Given the description of an element on the screen output the (x, y) to click on. 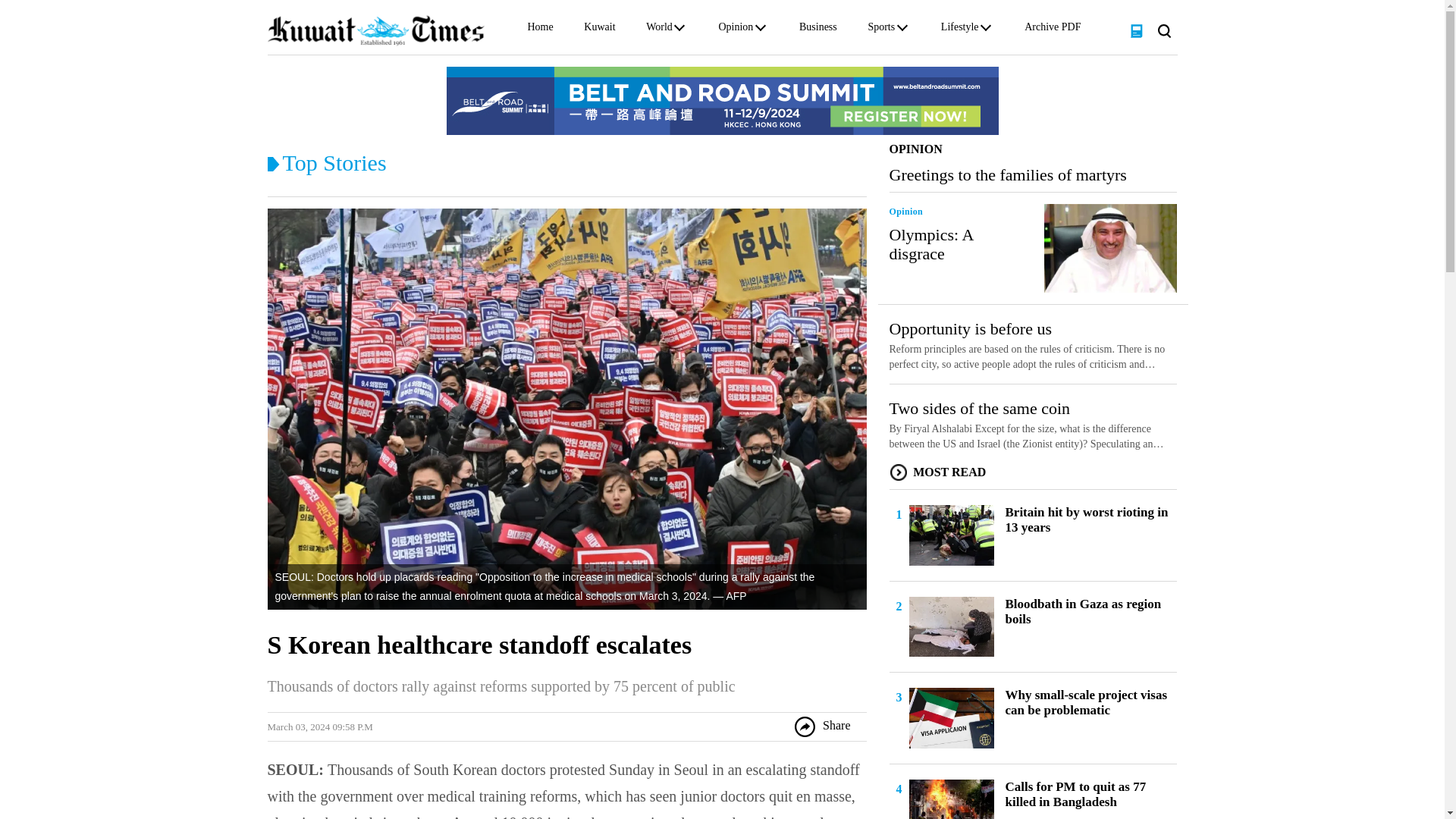
Kuwait (598, 29)
Lifestyle (959, 29)
pdf (1136, 29)
Opinion (734, 29)
Top Stories (333, 162)
Archive PDF (1052, 29)
Archive PDF (1052, 29)
Home (540, 29)
Business (818, 29)
Sports (881, 29)
World (659, 29)
Banner-Ad (721, 99)
Kuwait (598, 29)
kuwaittimes.com (374, 29)
